Given the description of an element on the screen output the (x, y) to click on. 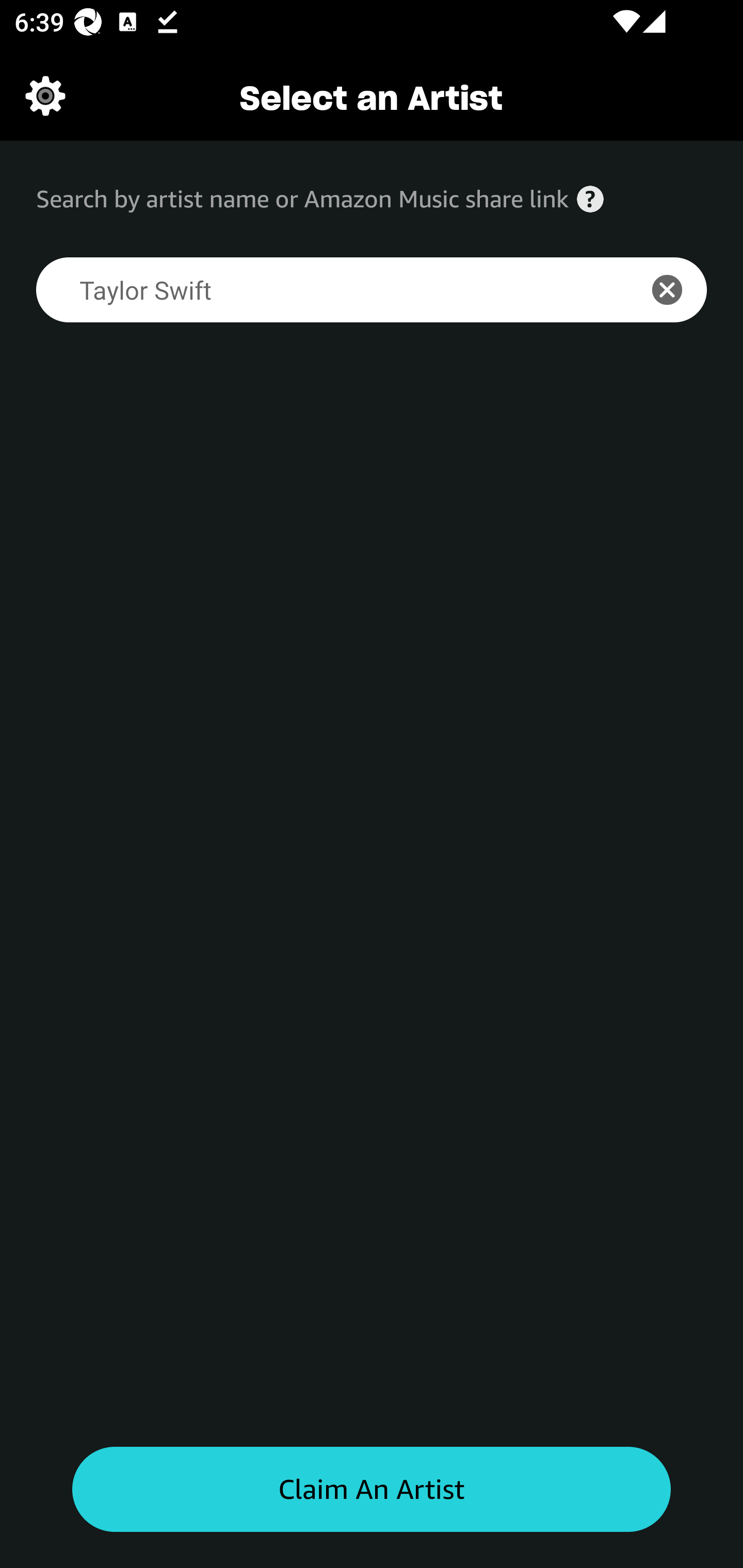
Help  icon (589, 199)
Taylor Swift Search for an artist search bar (324, 290)
 icon (677, 290)
Claim an artist button Claim An Artist (371, 1489)
